Given the description of an element on the screen output the (x, y) to click on. 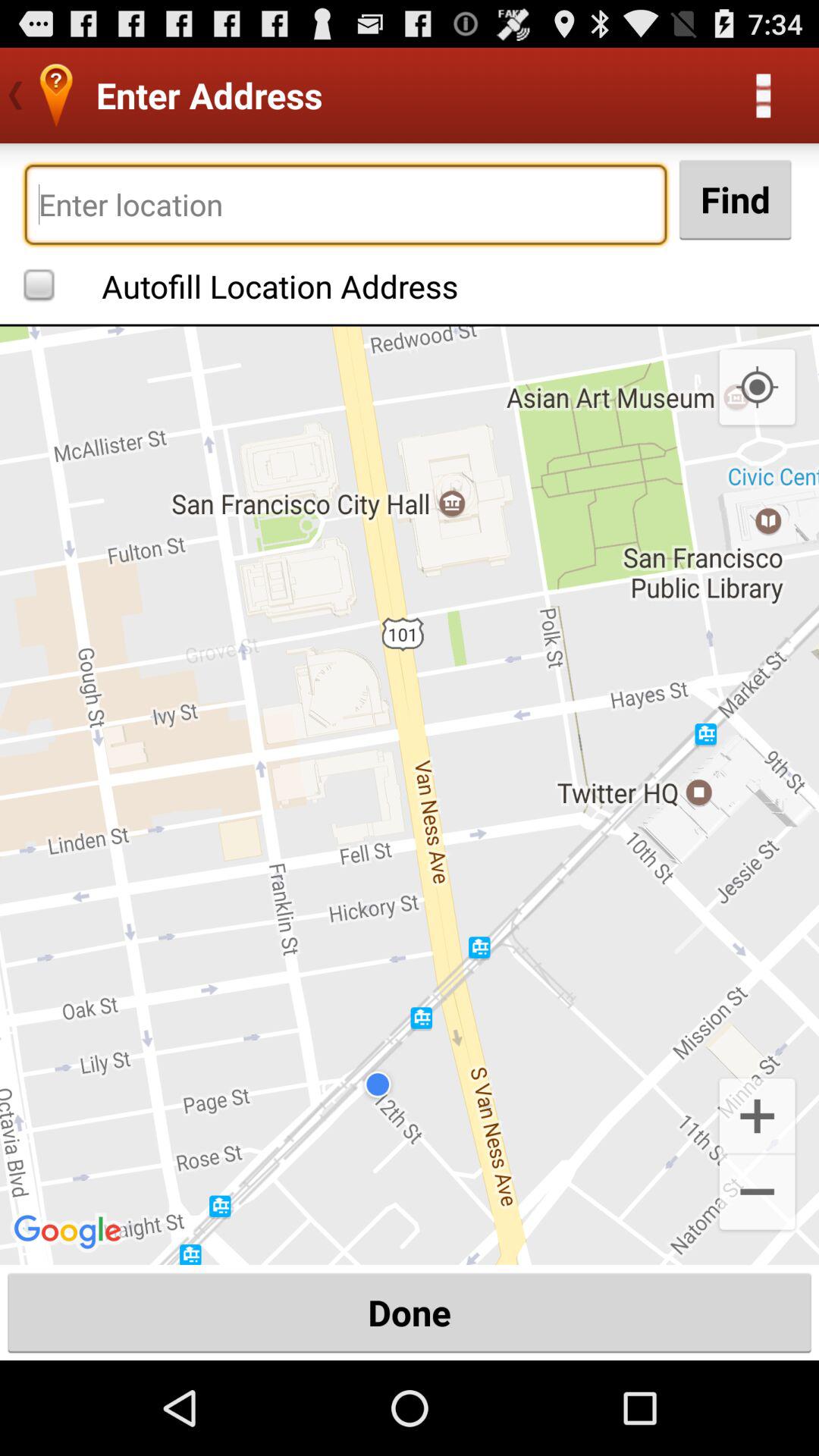
open icon above the done button (409, 795)
